Given the description of an element on the screen output the (x, y) to click on. 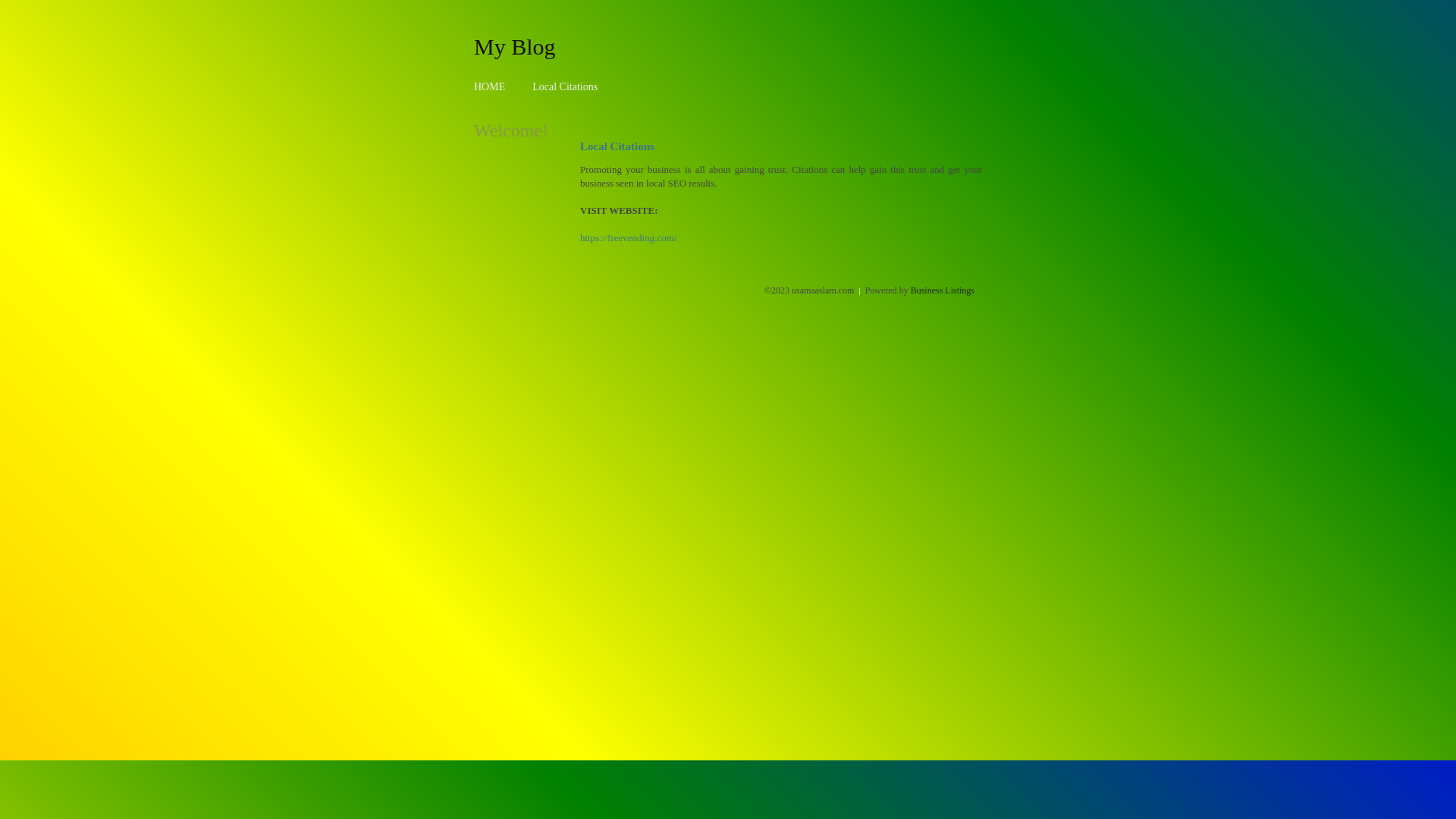
Business Listings Element type: text (942, 290)
HOME Element type: text (489, 86)
Local Citations Element type: text (564, 86)
https://freevending.com/ Element type: text (628, 237)
My Blog Element type: text (514, 46)
